Given the description of an element on the screen output the (x, y) to click on. 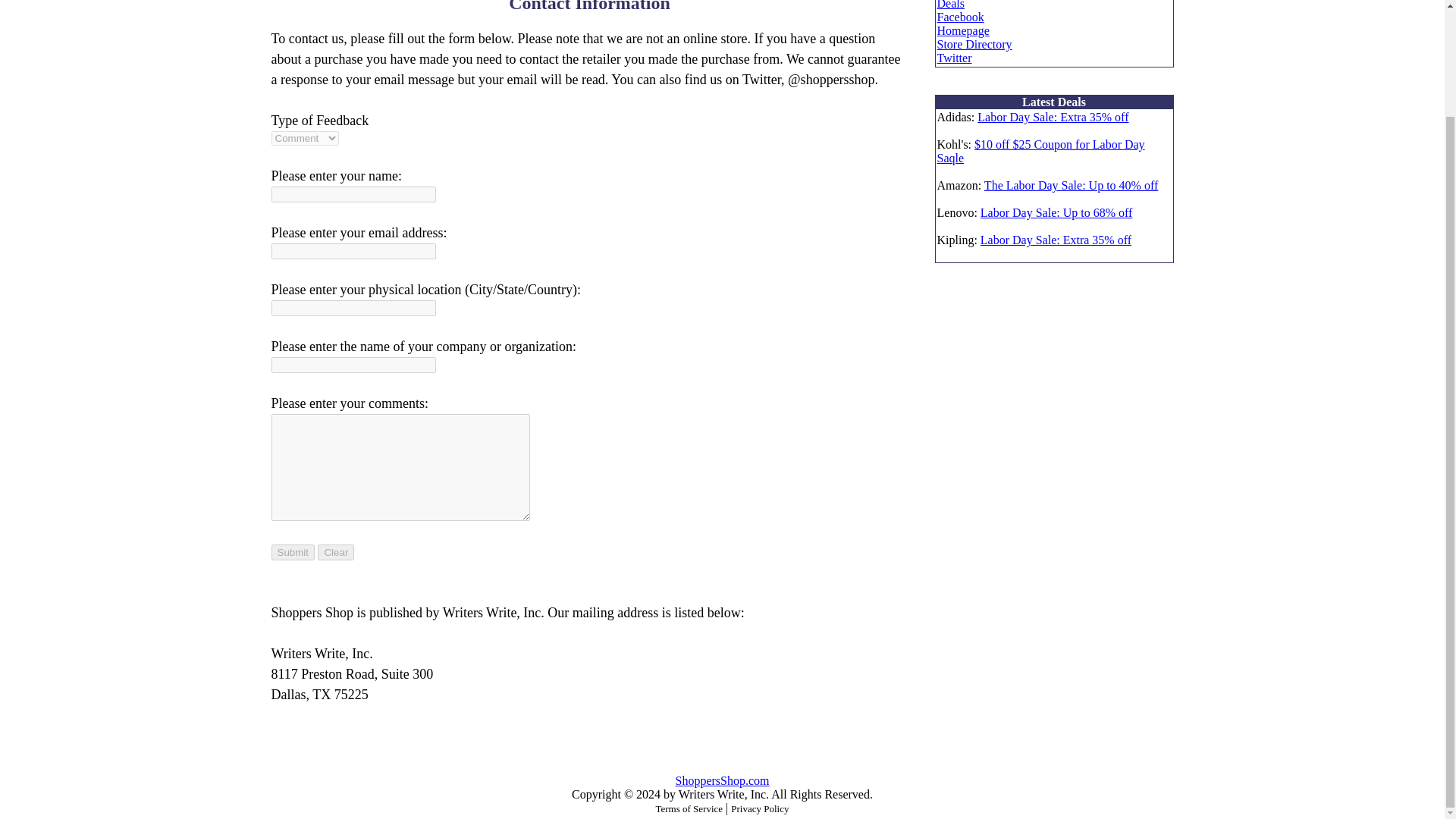
Terms of Service (688, 808)
Store Directory (974, 43)
Privacy Policy (759, 808)
ShoppersShop.com (721, 780)
Facebook (960, 16)
Clear (335, 552)
Submit (292, 552)
Deals (950, 4)
Submit (292, 552)
Homepage (963, 30)
